Given the description of an element on the screen output the (x, y) to click on. 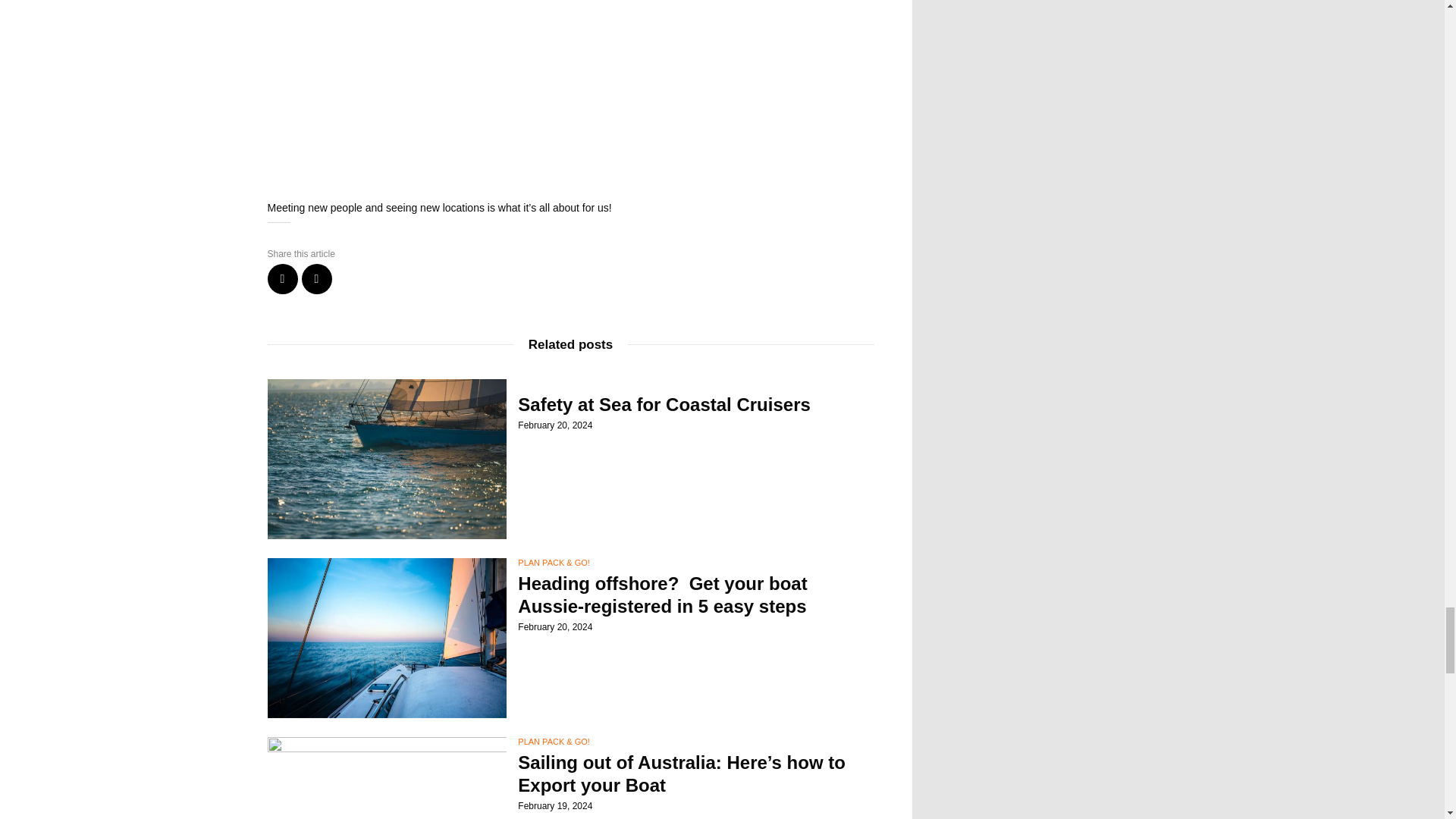
Safety at Sea for Coastal Cruisers (695, 404)
FROM THE SEA (548, 383)
